Given the description of an element on the screen output the (x, y) to click on. 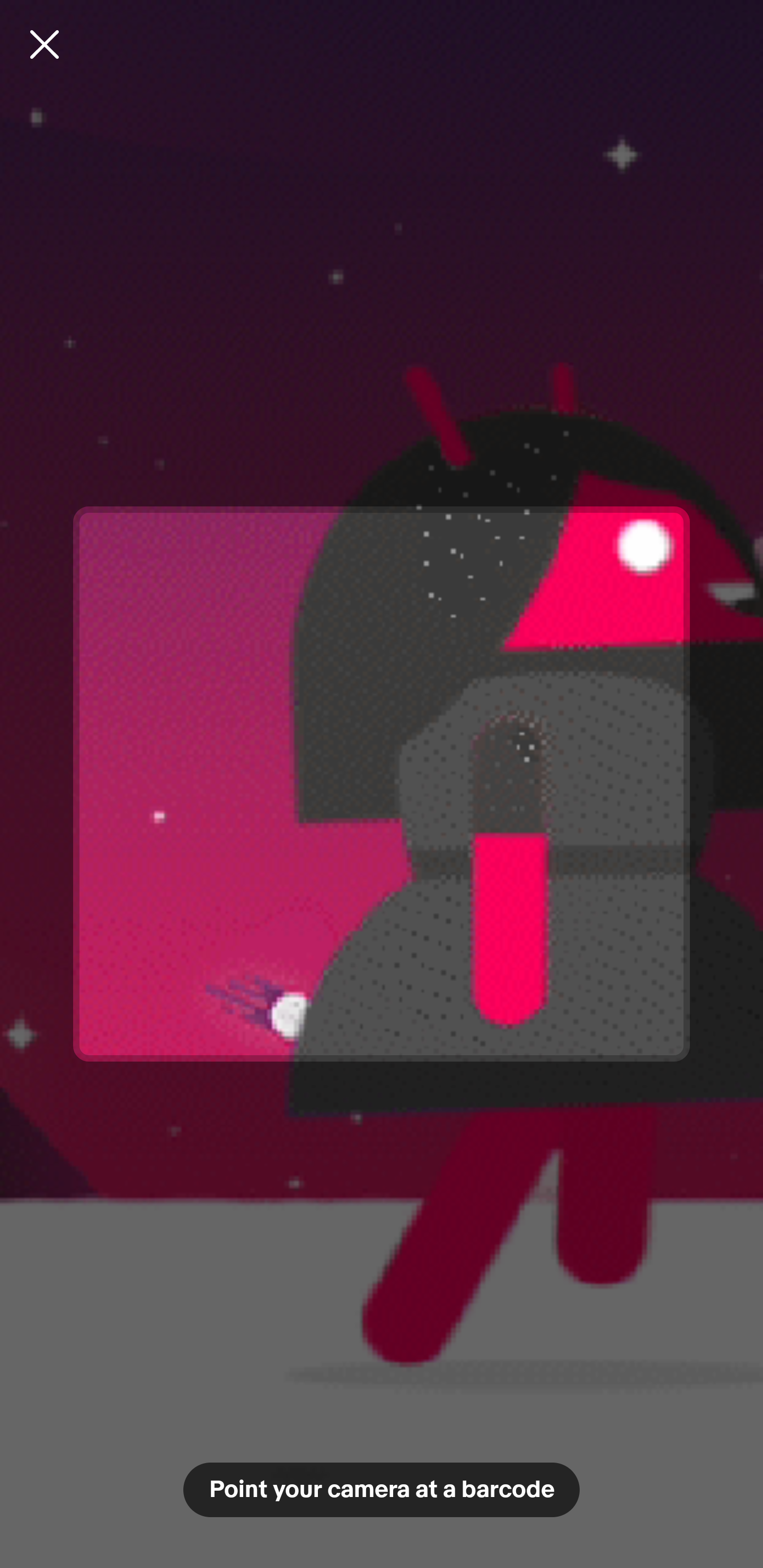
Close (44, 44)
